Given the description of an element on the screen output the (x, y) to click on. 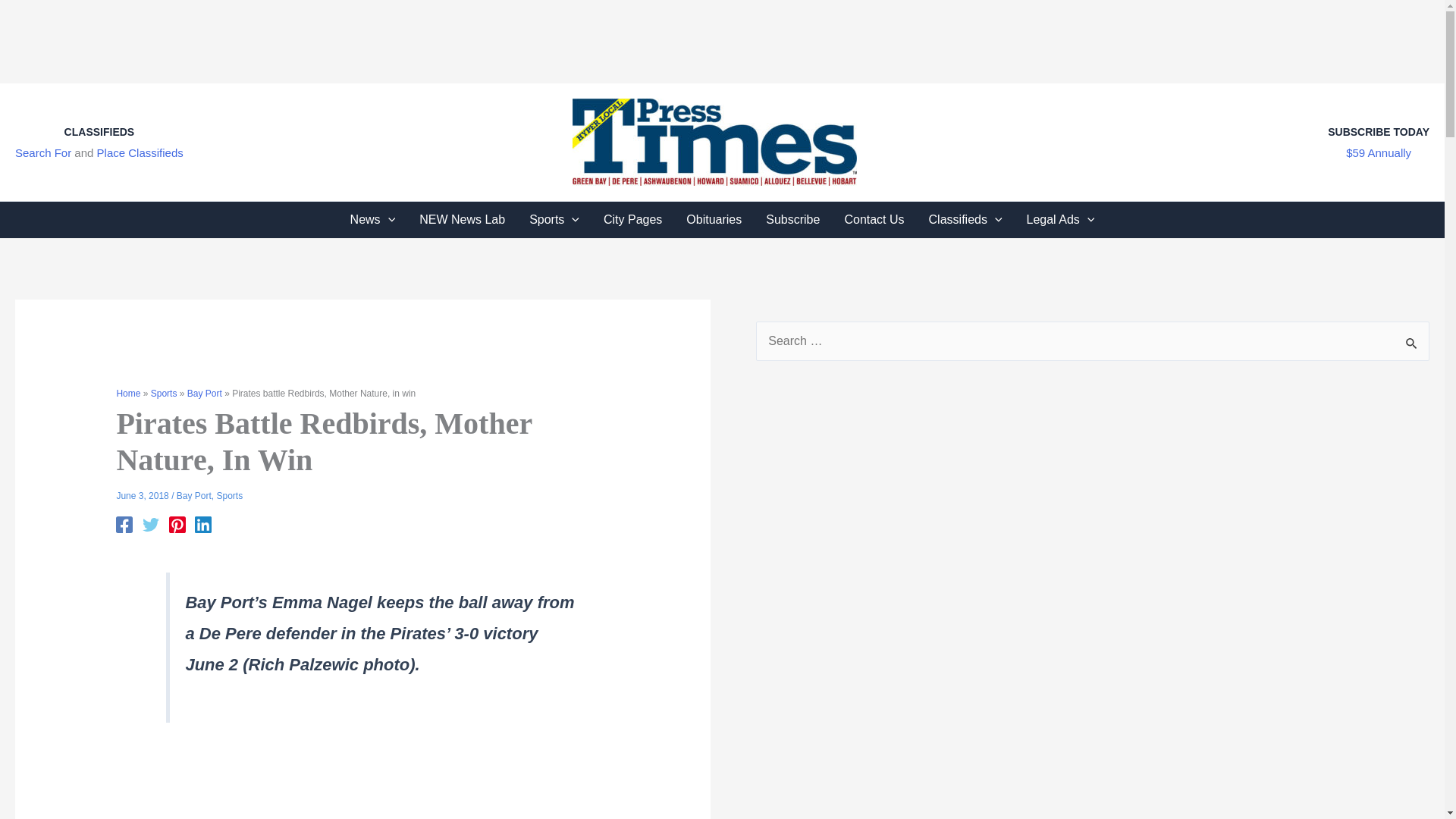
NEW News Lab (461, 219)
City Pages (632, 219)
Sports (553, 219)
Subscribe (792, 219)
Place Classifieds (140, 152)
News (372, 219)
Search For (42, 152)
Contact Us (873, 219)
Obituaries (714, 219)
